Given the description of an element on the screen output the (x, y) to click on. 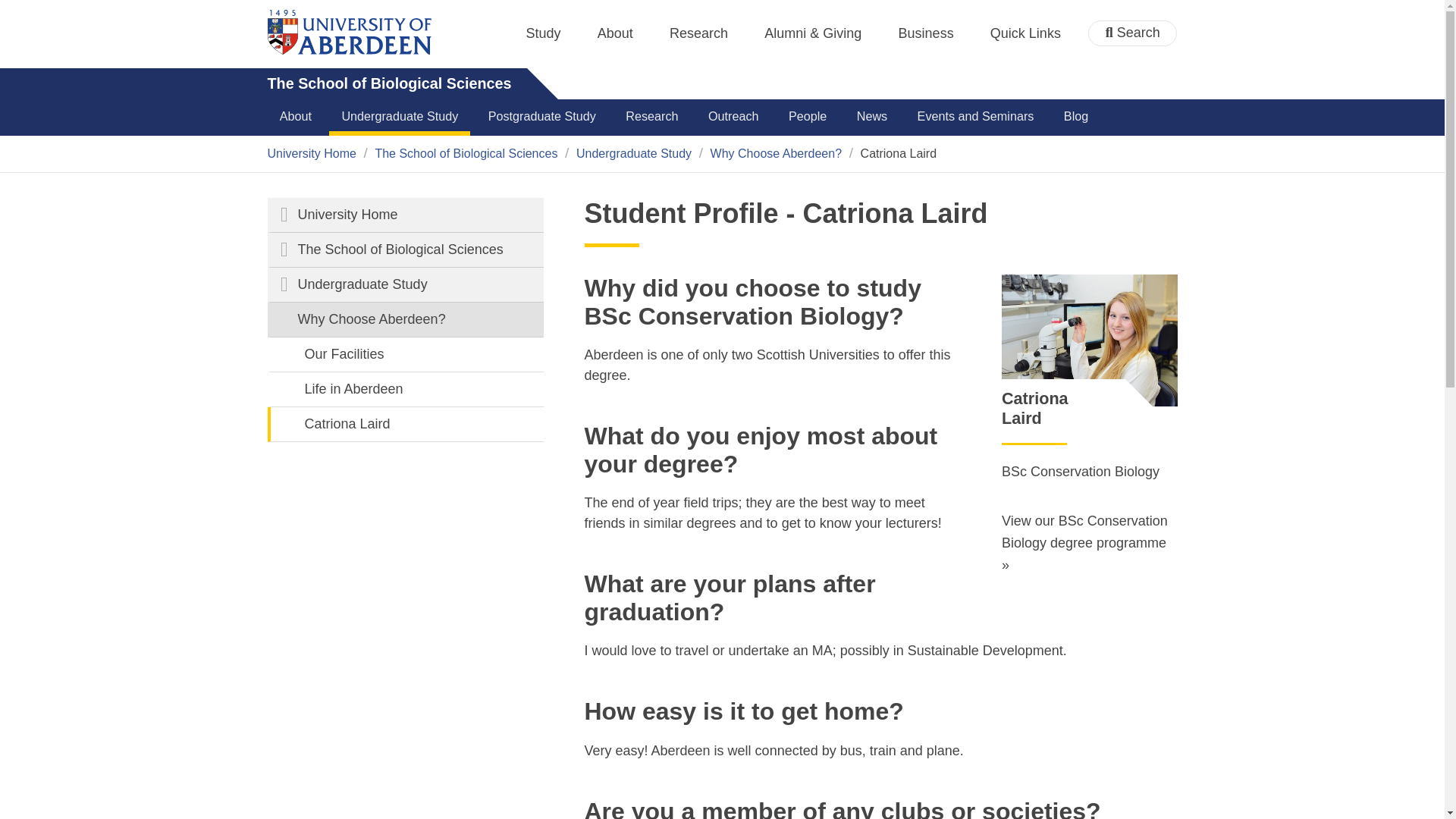
About (614, 33)
Study (542, 33)
